Given the description of an element on the screen output the (x, y) to click on. 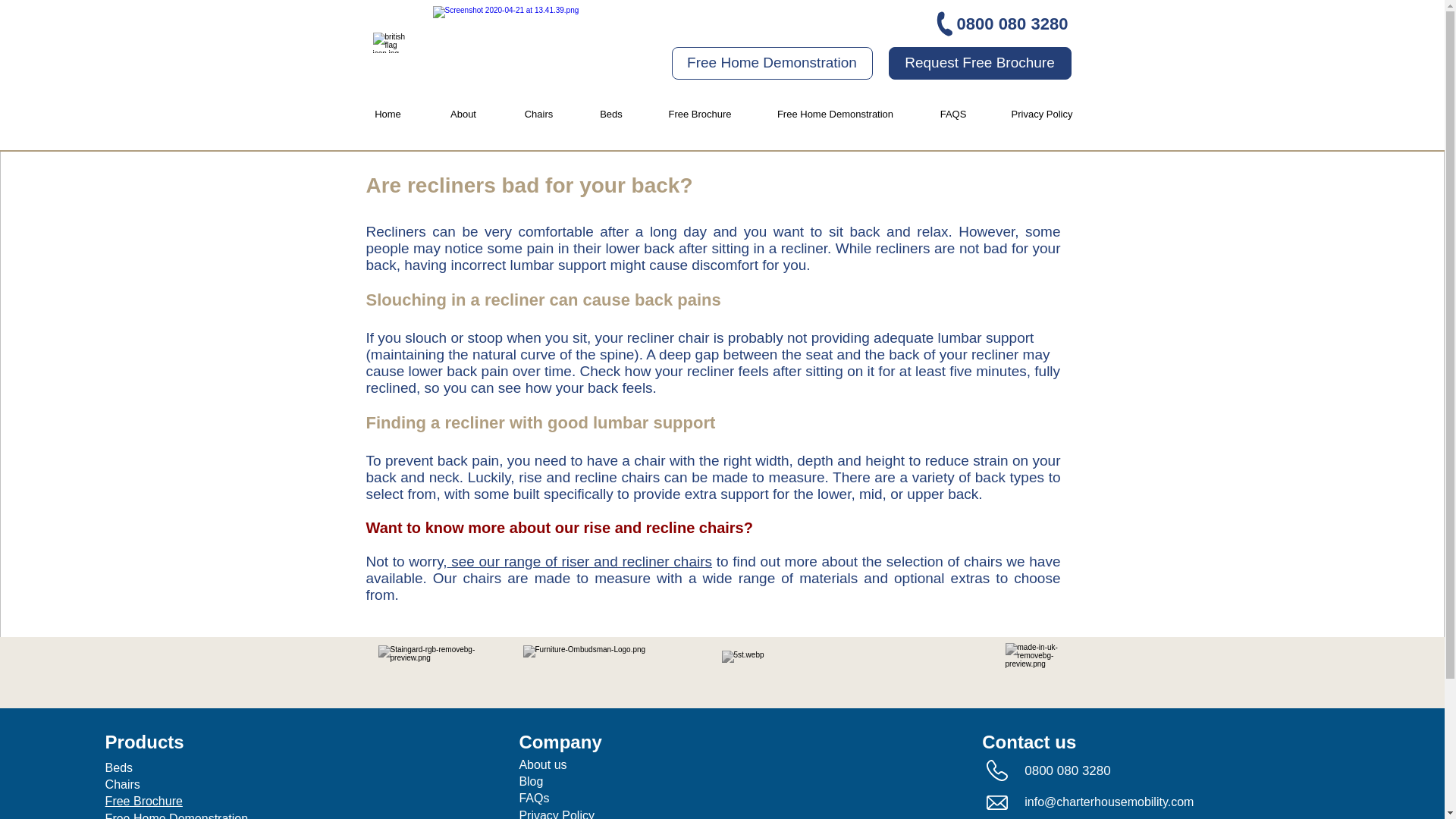
Beds (611, 113)
Free Brochure (143, 800)
Beds (118, 767)
Home (387, 113)
Privacy Policy (1040, 113)
Request Free Brochure (979, 62)
Free Home Demonstration (176, 815)
About (462, 113)
Free Brochure (700, 113)
0800 080 3280  (1069, 770)
Free Home Demonstration (835, 113)
see our range of riser and recliner chairs (578, 561)
FAQS (951, 113)
0800 080 3280 (1012, 23)
Chairs (121, 784)
